Given the description of an element on the screen output the (x, y) to click on. 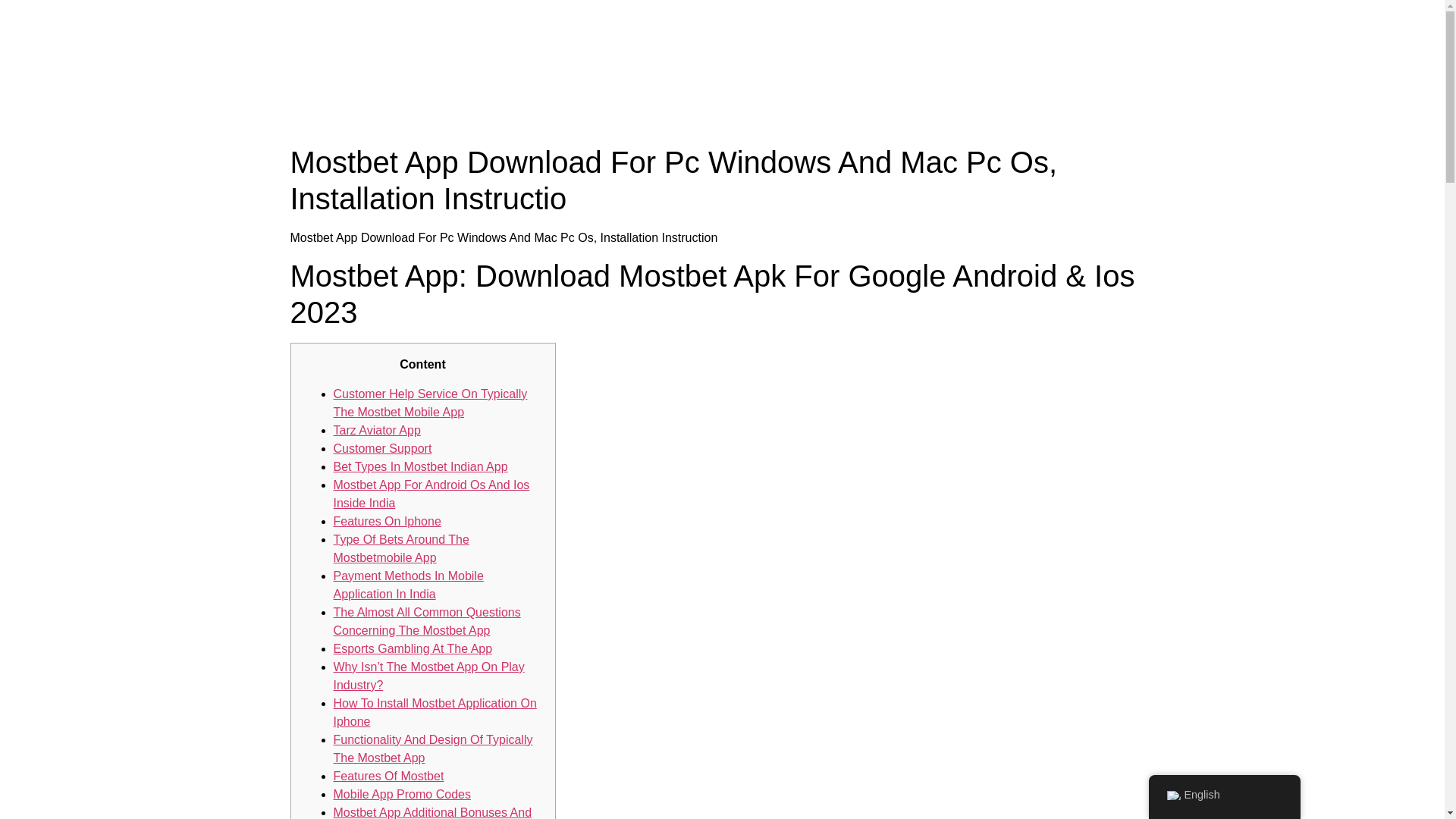
Functionality And Design Of Typically The Mostbet App (432, 748)
The Almost All Common Questions Concerning The Mostbet App (427, 621)
Esports Gambling At The App (413, 648)
Features On Iphone (387, 521)
English (1172, 795)
Mostbet App For Android Os And Ios Inside India (431, 493)
Bet Types In Mostbet Indian App (420, 466)
How To Install Mostbet Application On Iphone (435, 712)
English (1224, 795)
Type Of Bets Around The Mostbetmobile App (400, 548)
Mobile App Promo Codes (401, 793)
Features Of Mostbet (388, 775)
Customer Help Service On Typically The Mostbet Mobile App (430, 402)
Tarz Aviator App (376, 430)
Mostbet App Additional Bonuses And Promocode (432, 812)
